Given the description of an element on the screen output the (x, y) to click on. 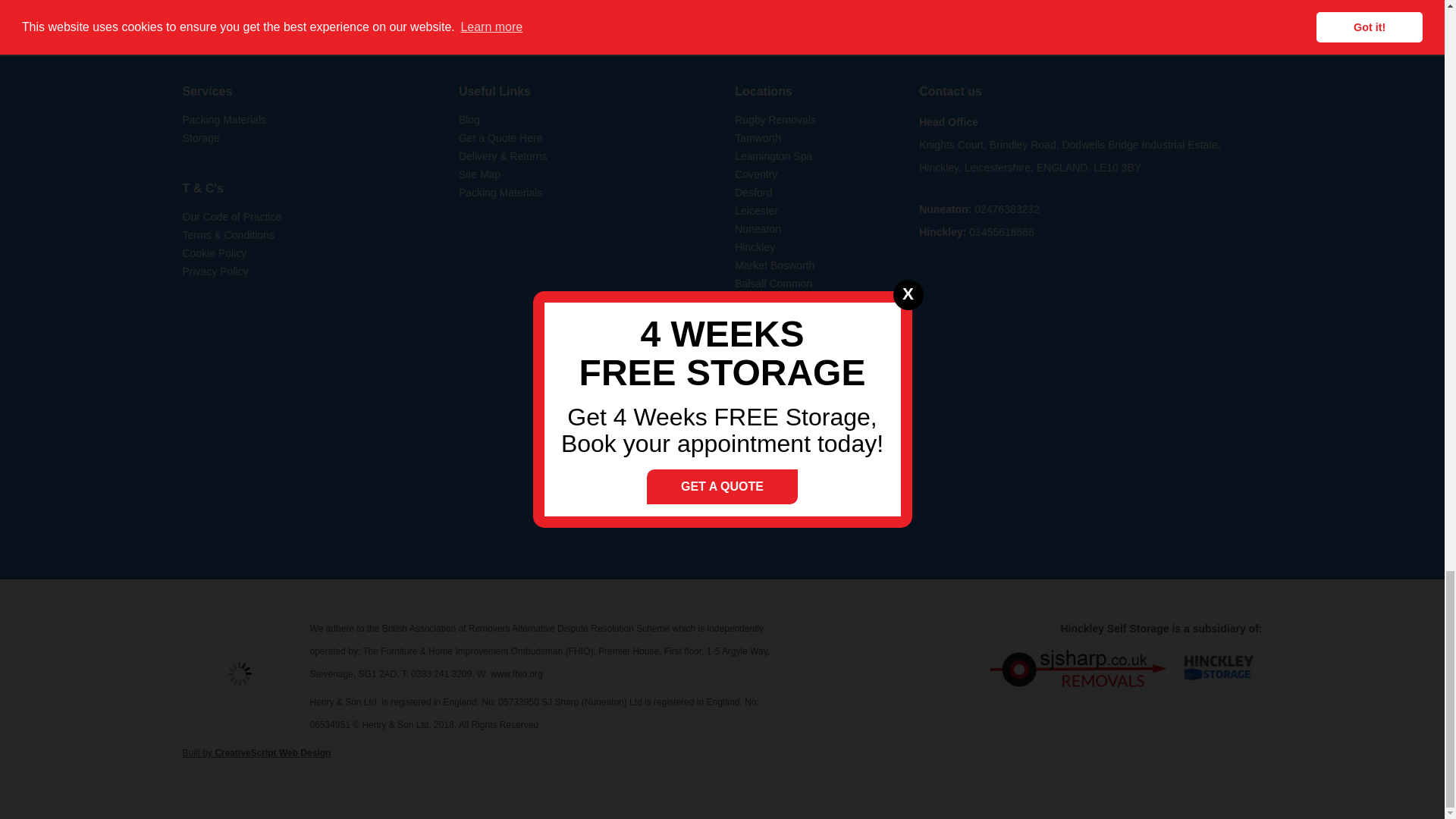
Packing Materials (224, 119)
Our Client (721, 2)
Our Client (506, 2)
Our Client (289, 2)
